Given the description of an element on the screen output the (x, y) to click on. 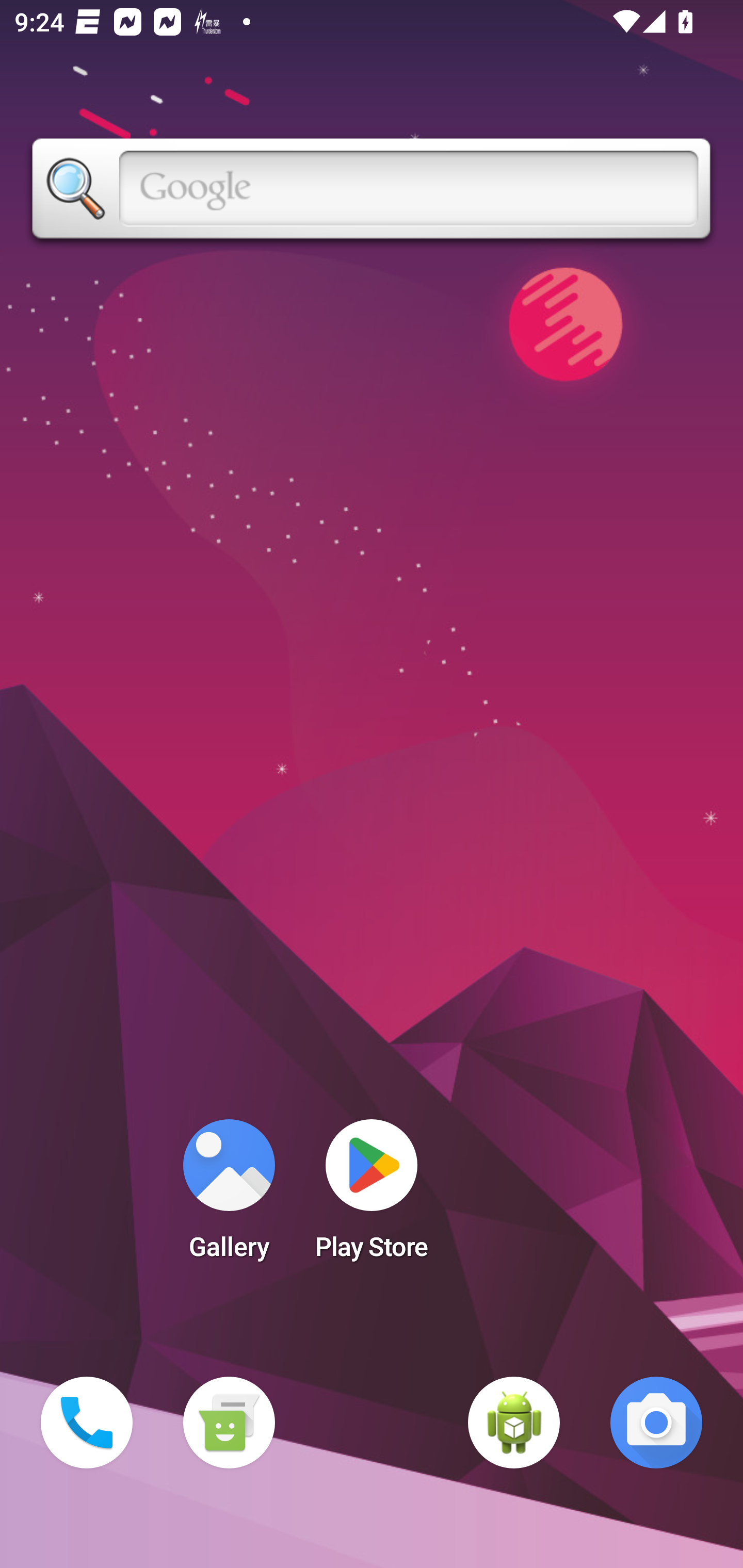
Gallery (228, 1195)
Play Store (371, 1195)
Phone (86, 1422)
Messaging (228, 1422)
WebView Browser Tester (513, 1422)
Camera (656, 1422)
